Given the description of an element on the screen output the (x, y) to click on. 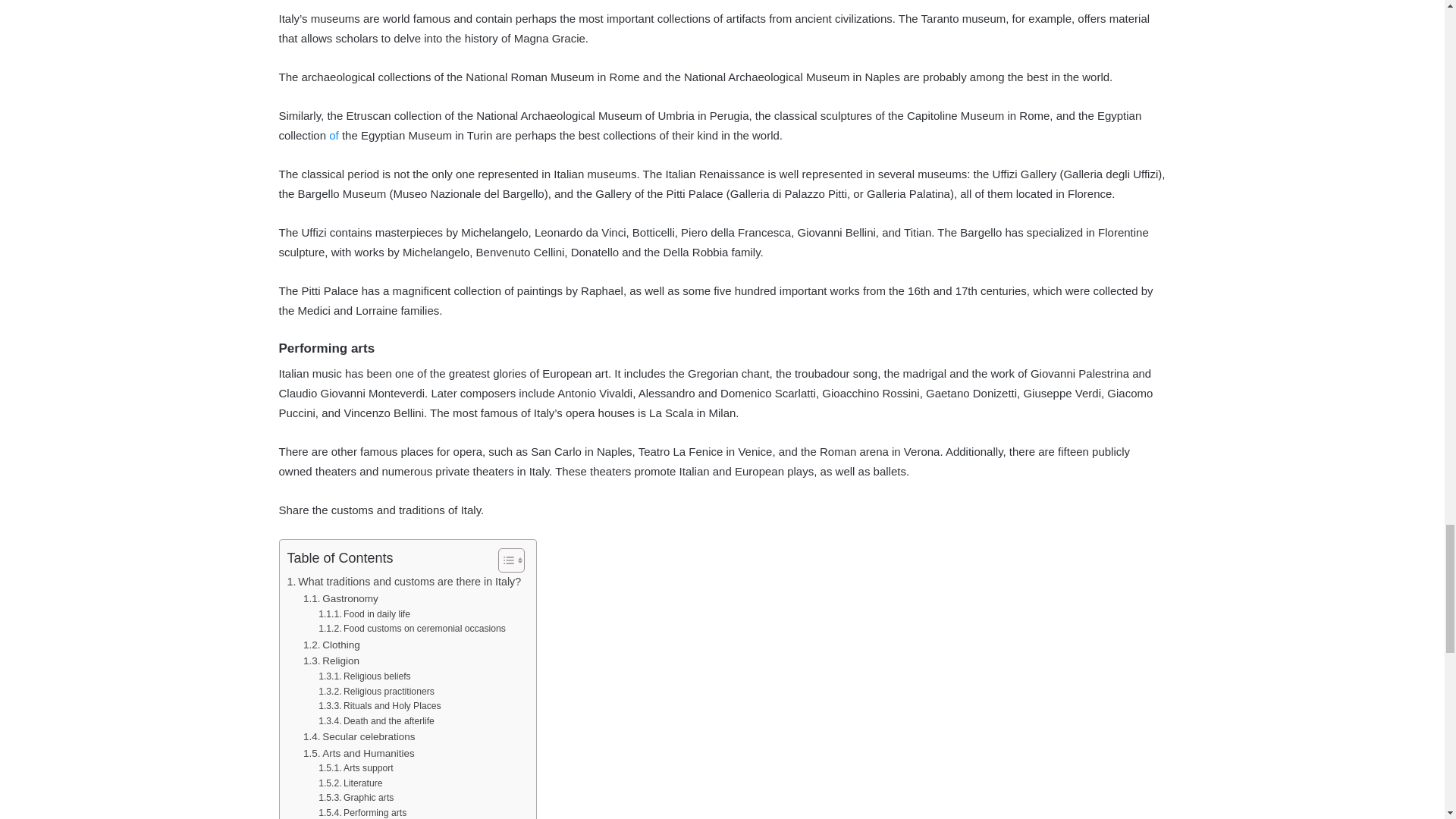
Religious beliefs (364, 676)
Clothing (330, 645)
Secular celebrations (358, 736)
Rituals and Holy Places (379, 706)
Arts and Humanities (358, 753)
Religious practitioners (375, 691)
Religious practitioners (375, 691)
Food customs on ceremonial occasions (411, 629)
Religion (330, 660)
Food customs on ceremonial occasions (411, 629)
